Given the description of an element on the screen output the (x, y) to click on. 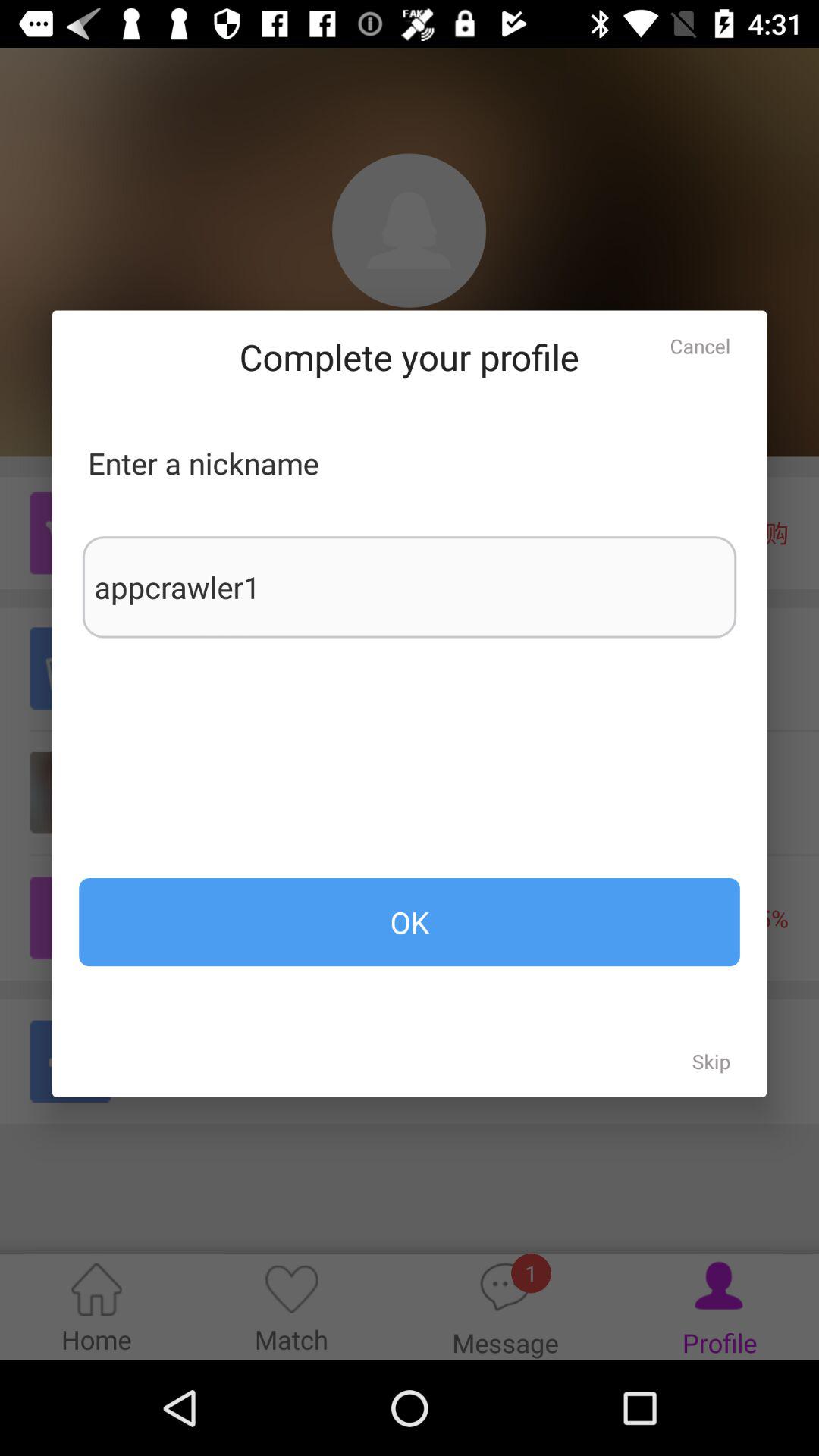
swipe to skip (711, 1061)
